Given the description of an element on the screen output the (x, y) to click on. 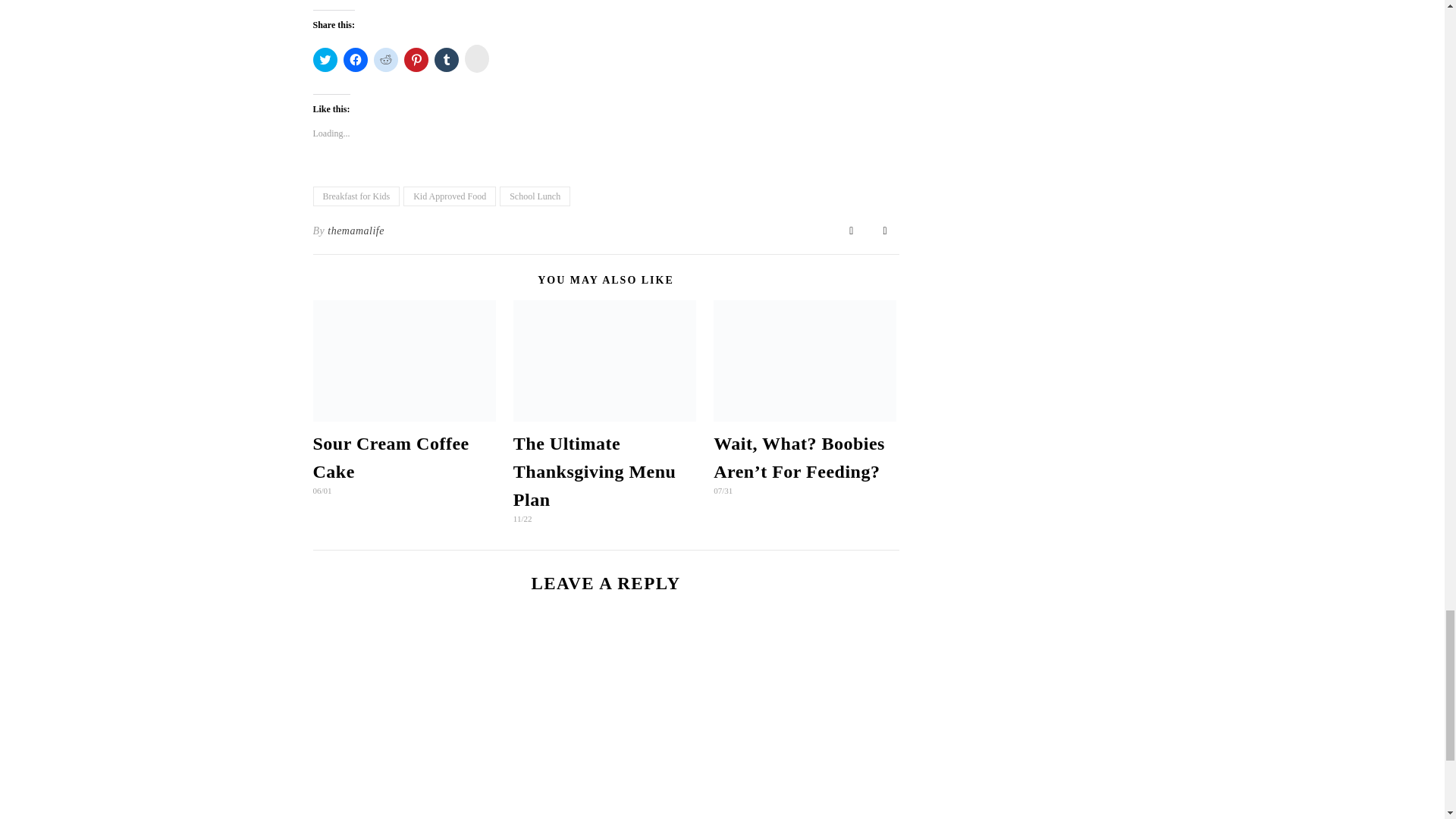
Click to share on Reddit (384, 59)
Click to share on Pinterest (415, 59)
Click to share on Tumblr (445, 59)
Click to share on Twitter (324, 59)
Posts by themamalife (355, 231)
Comment Form (605, 726)
Click to share on Facebook (354, 59)
